Given the description of an element on the screen output the (x, y) to click on. 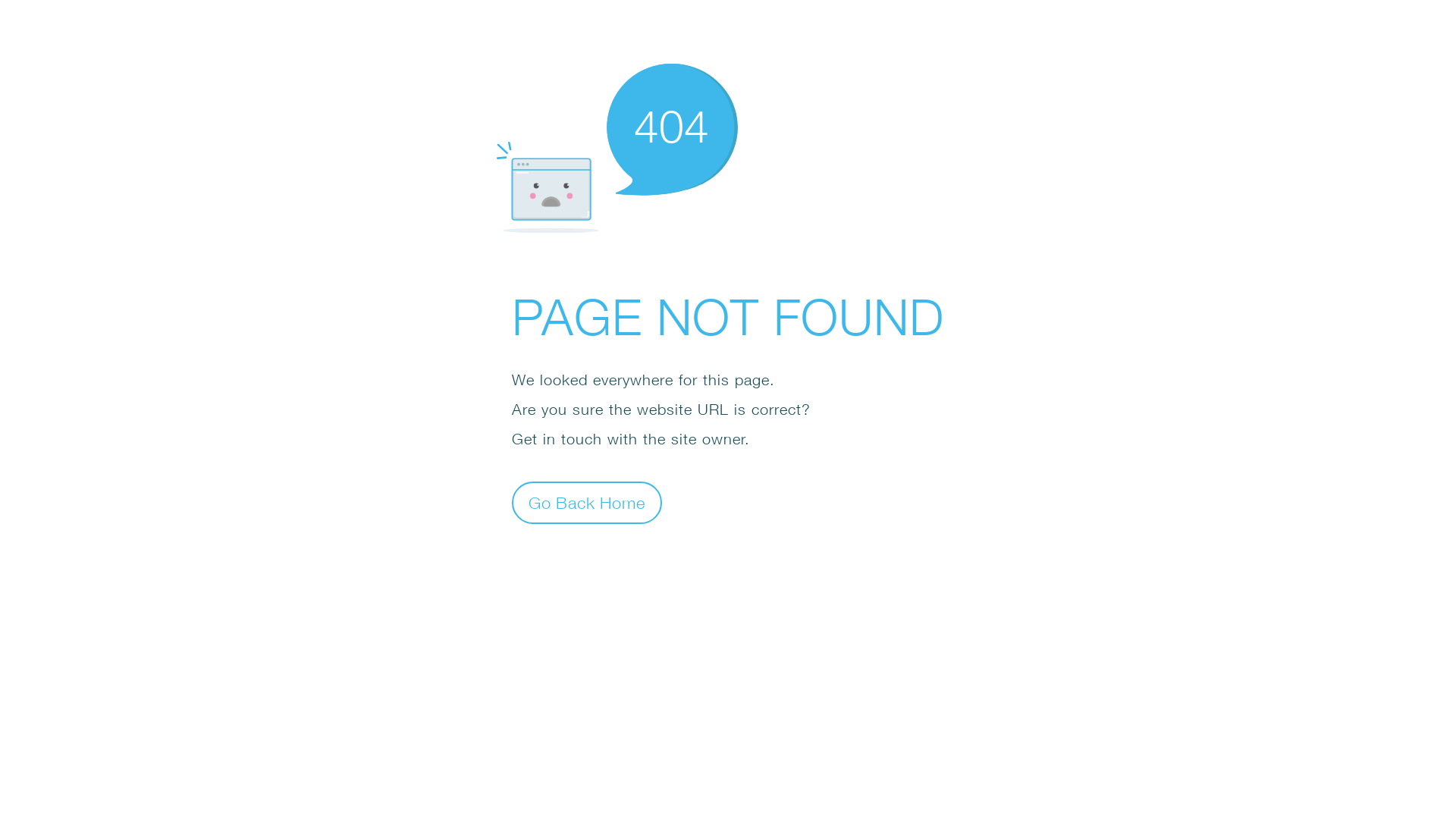
Go Back Home Element type: text (586, 502)
